Given the description of an element on the screen output the (x, y) to click on. 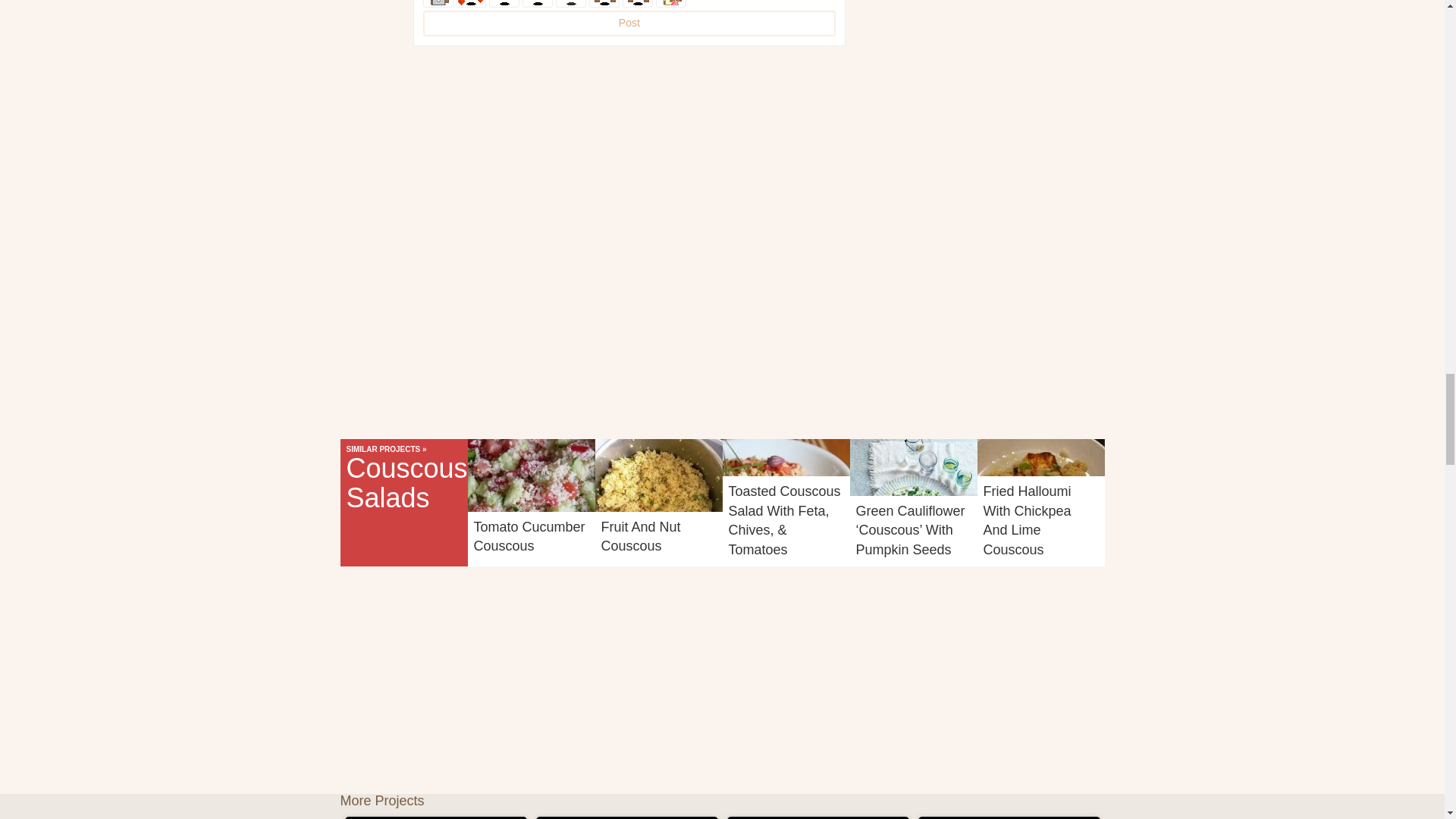
Post (629, 23)
